Given the description of an element on the screen output the (x, y) to click on. 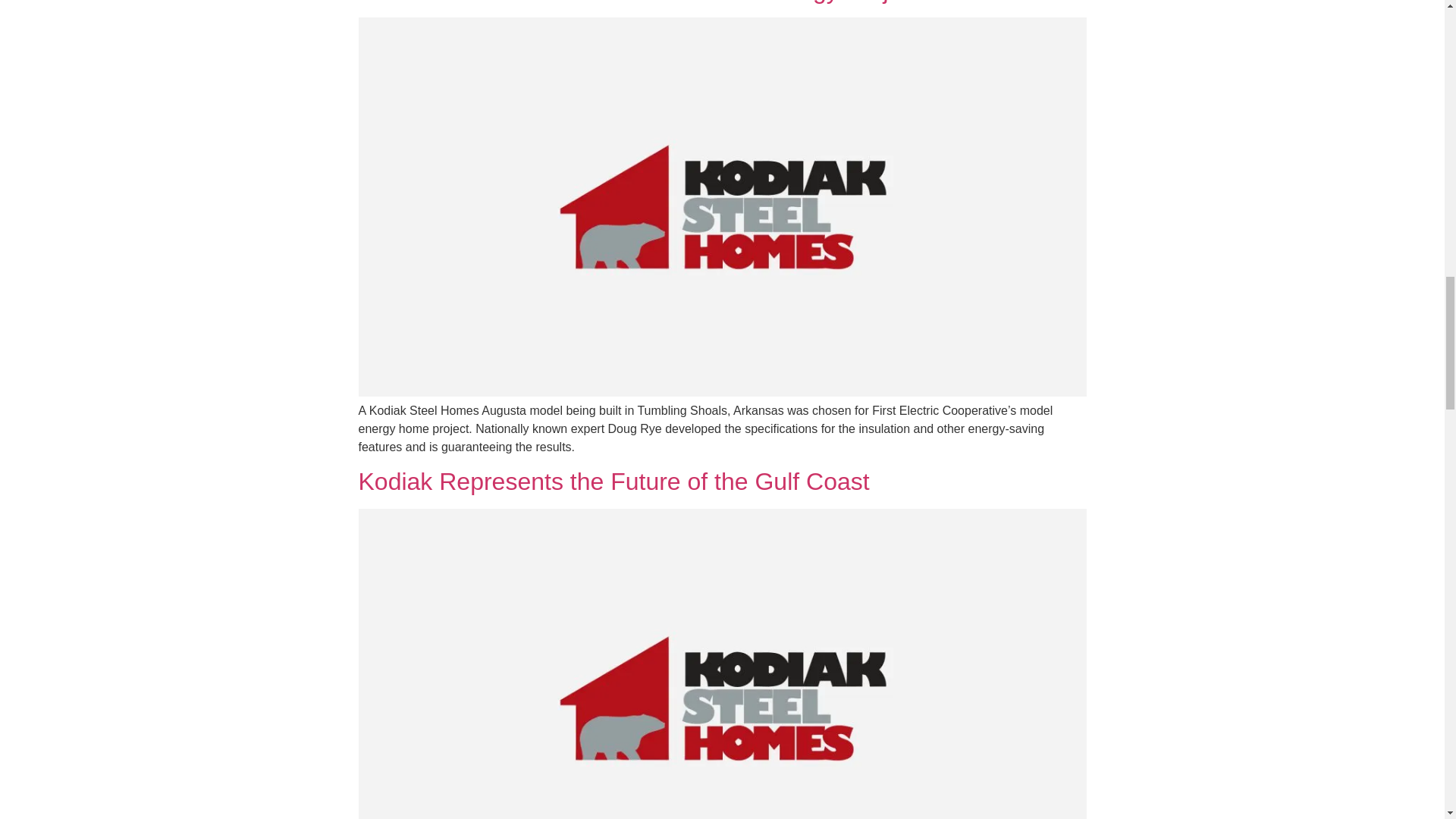
Kodiak Represents the Future of the Gulf Coast (613, 481)
